Given the description of an element on the screen output the (x, y) to click on. 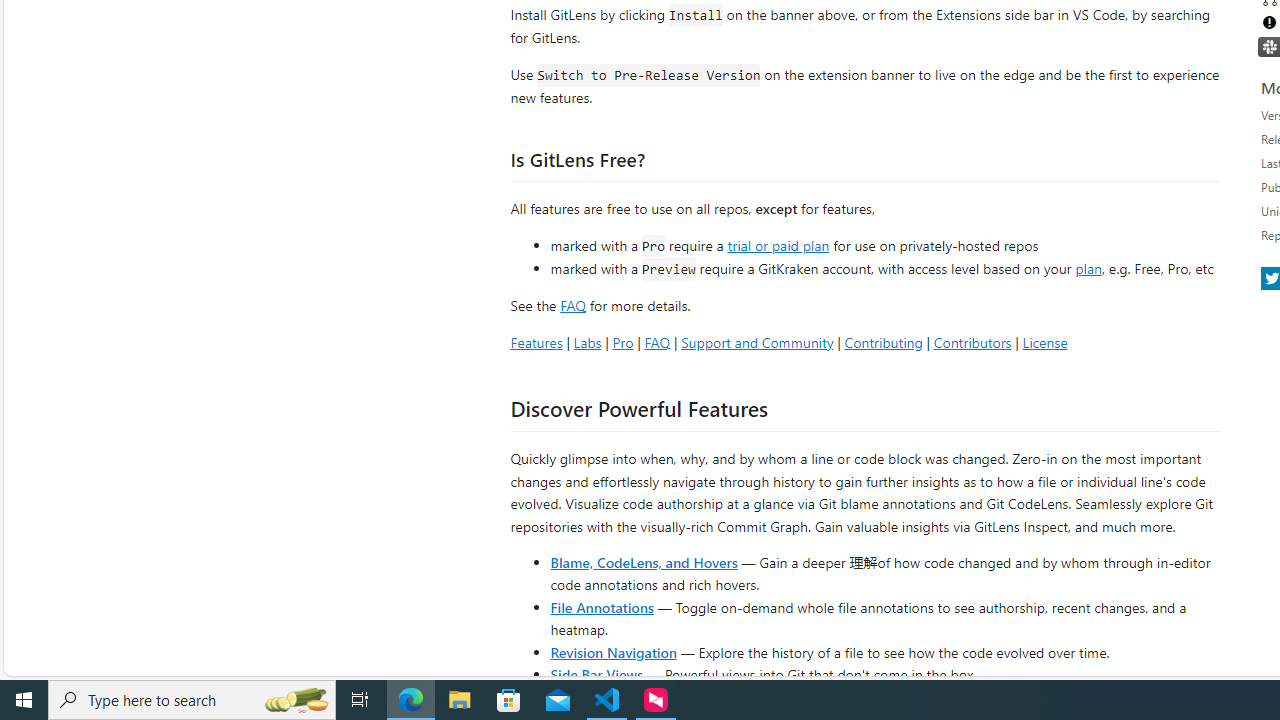
Contributing (882, 341)
Contributors (972, 341)
plan (1088, 269)
License (1044, 341)
trial or paid plan (778, 244)
Side Bar Views (596, 673)
Support and Community (757, 341)
Pro (622, 341)
FAQ (656, 341)
Labs (587, 341)
Features (536, 341)
